Given the description of an element on the screen output the (x, y) to click on. 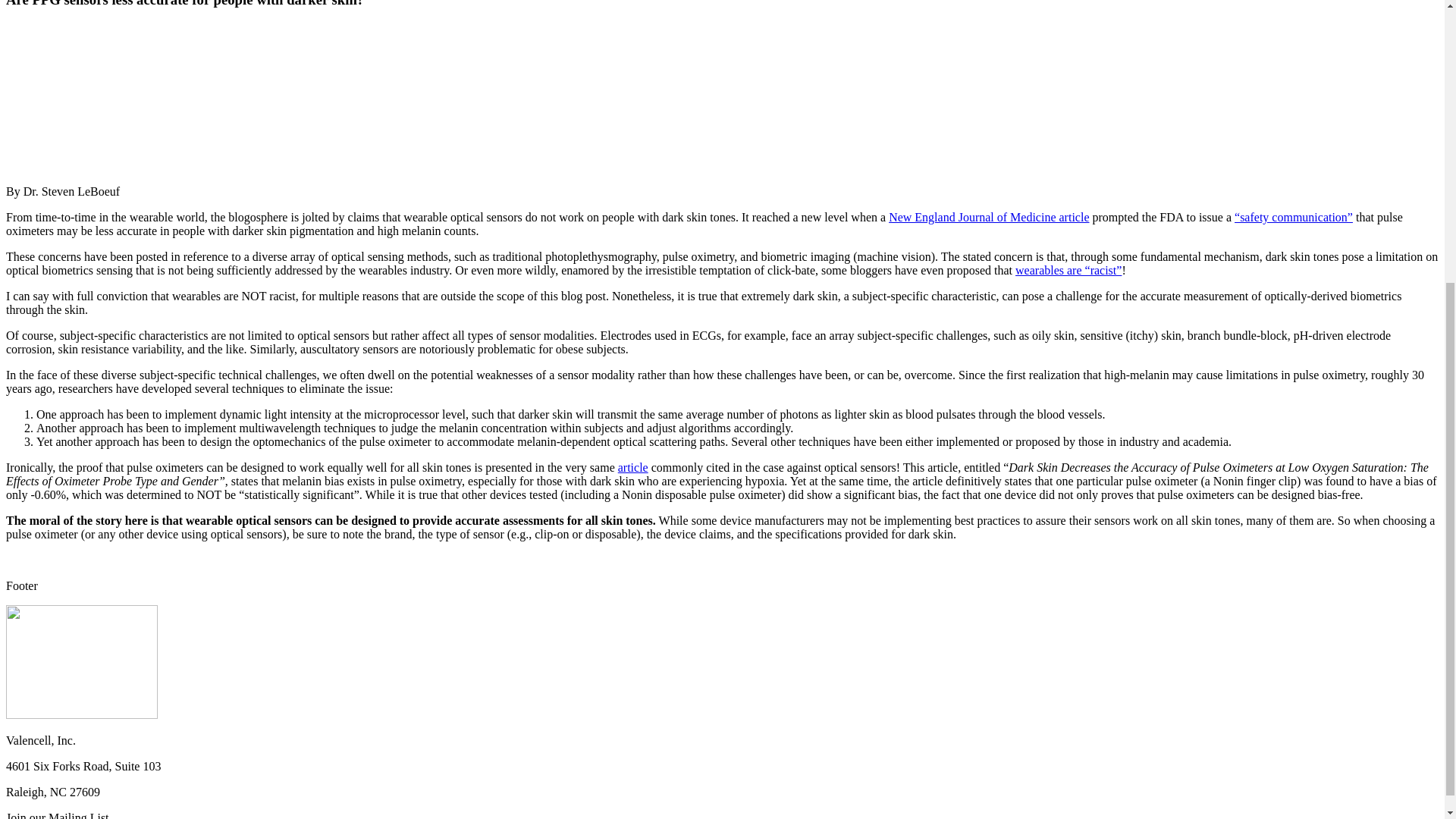
New England Journal of Medicine article (988, 216)
article (632, 467)
